Given the description of an element on the screen output the (x, y) to click on. 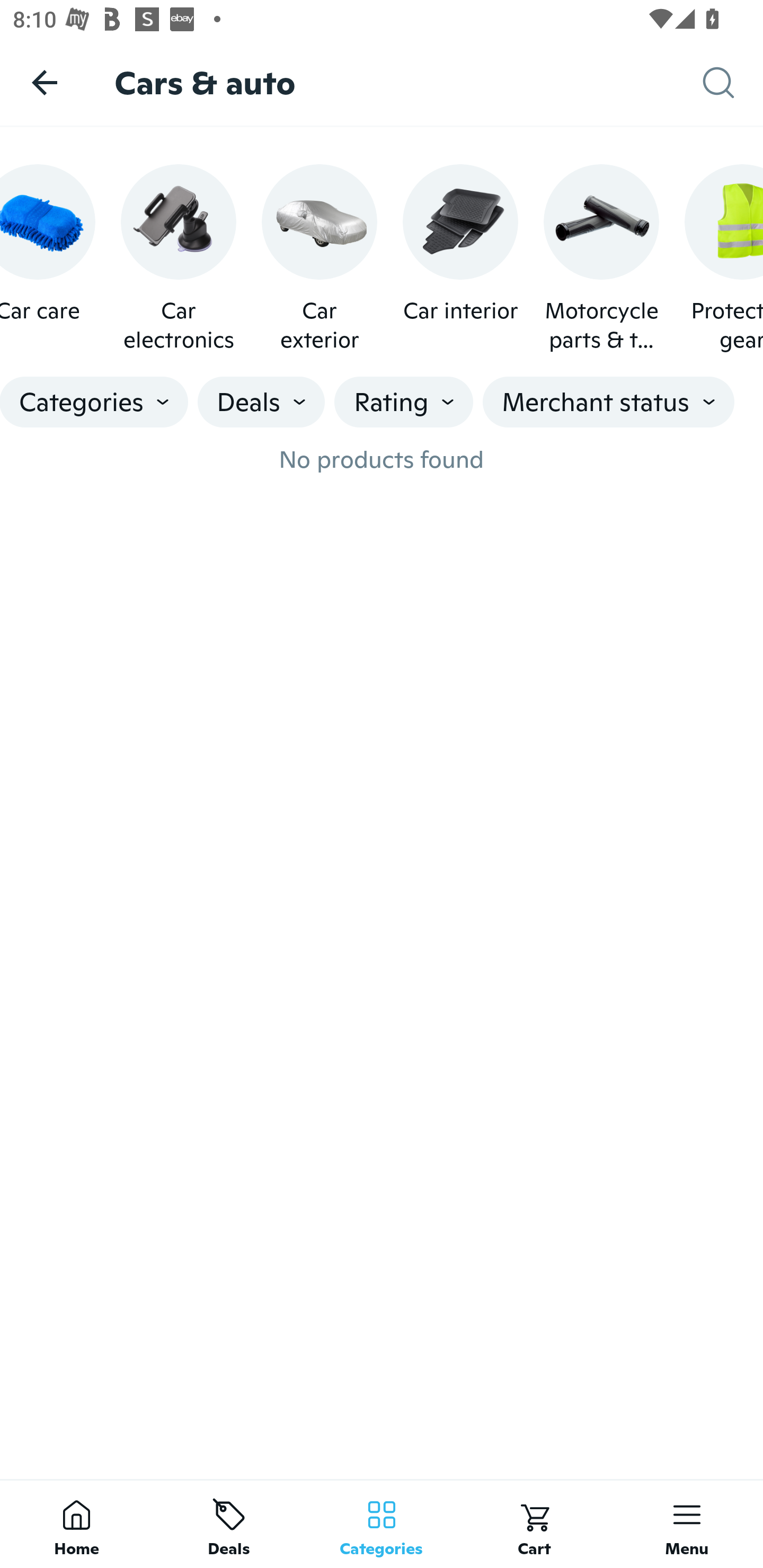
Navigate up (44, 82)
Search (732, 82)
Car care (47, 259)
Car electronics (178, 259)
Car exterior (318, 259)
Car interior (460, 259)
Motorcycle parts & tools (601, 259)
Protective gear (723, 259)
Categories (94, 402)
Deals (261, 402)
Rating (403, 402)
Merchant status (608, 402)
Home (76, 1523)
Deals (228, 1523)
Categories (381, 1523)
Cart (533, 1523)
Menu (686, 1523)
